Given the description of an element on the screen output the (x, y) to click on. 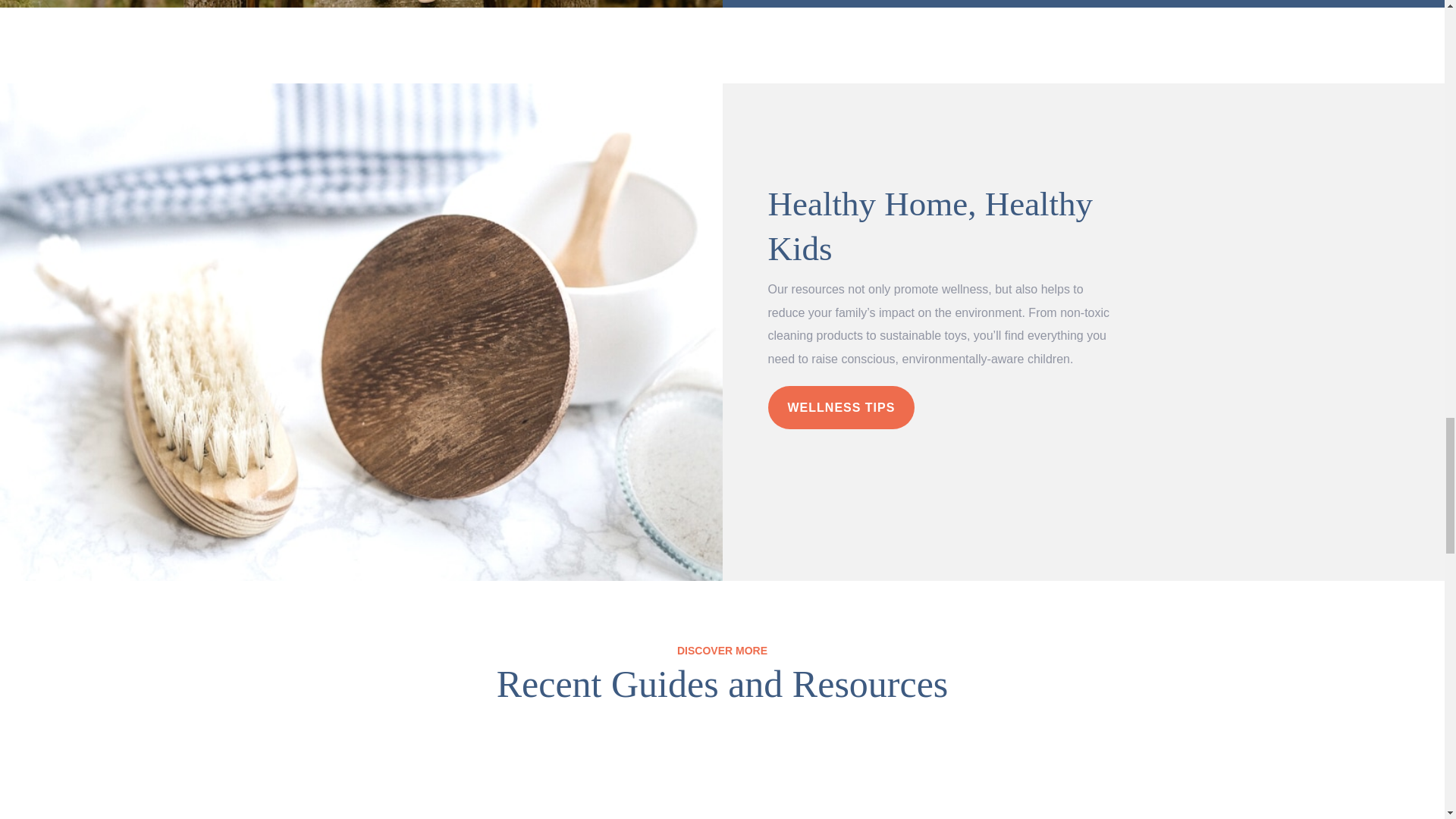
WELLNESS TIPS (840, 407)
